Given the description of an element on the screen output the (x, y) to click on. 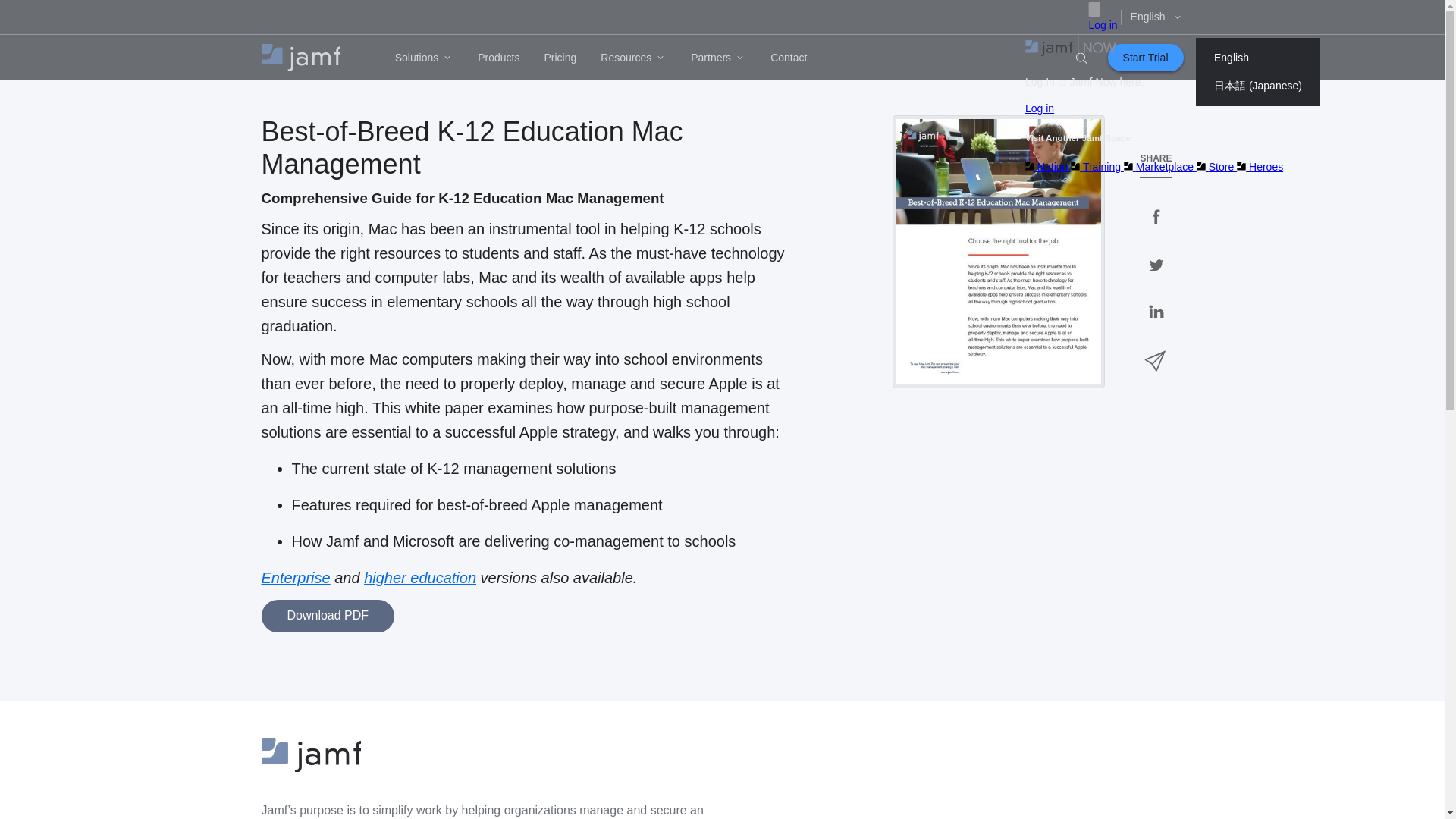
English (1156, 17)
Solutions (423, 57)
Jamf (310, 754)
Pricing (559, 57)
English (1257, 58)
Products (498, 57)
Resources (633, 57)
Home (299, 57)
Partners (718, 57)
